Given the description of an element on the screen output the (x, y) to click on. 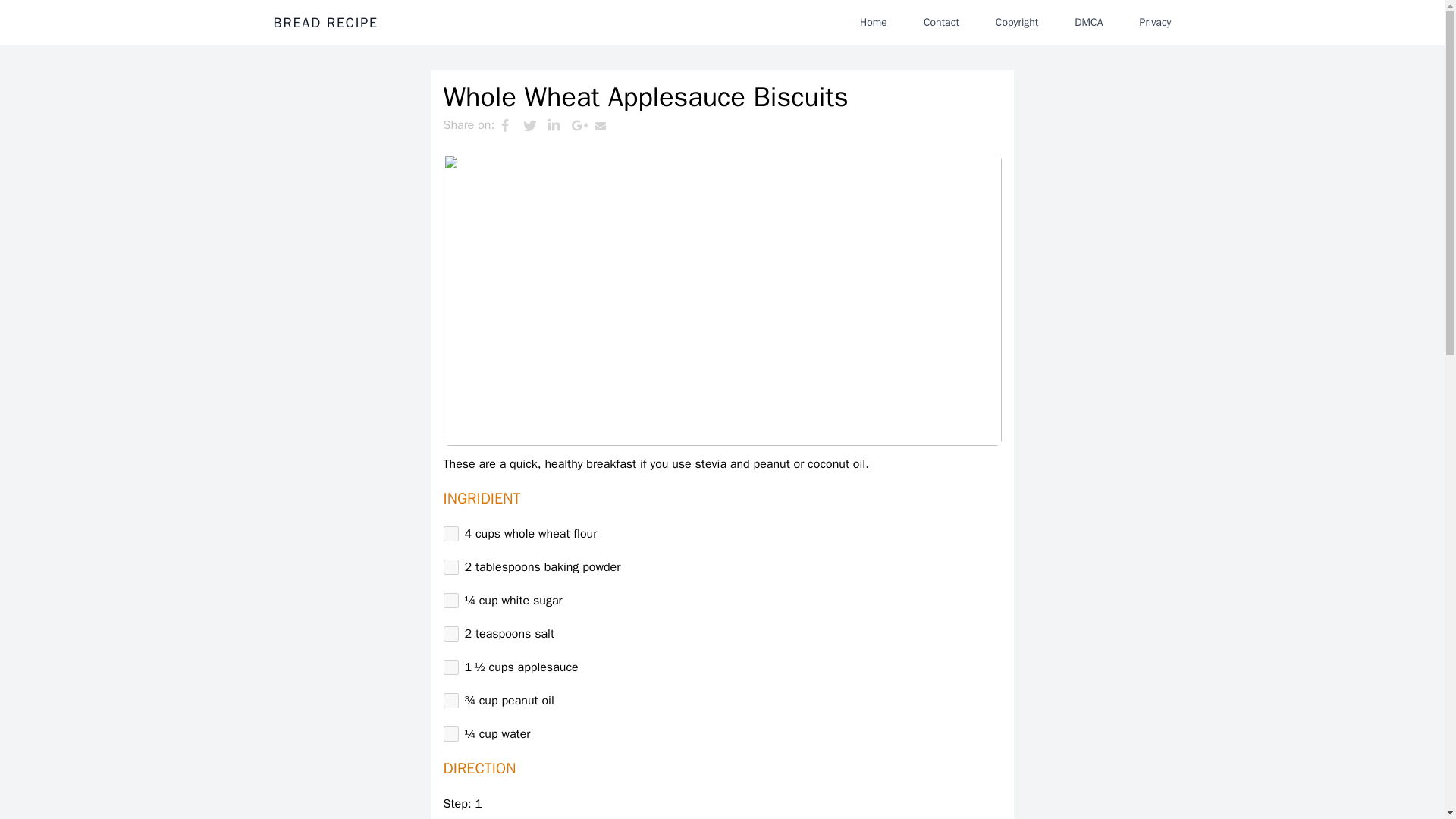
Share this on Twitter (534, 125)
on (450, 734)
Share this through Email (607, 125)
on (450, 566)
on (450, 700)
DMCA (1088, 22)
on (450, 600)
on (450, 633)
on (450, 533)
Privacy (1154, 22)
